Given the description of an element on the screen output the (x, y) to click on. 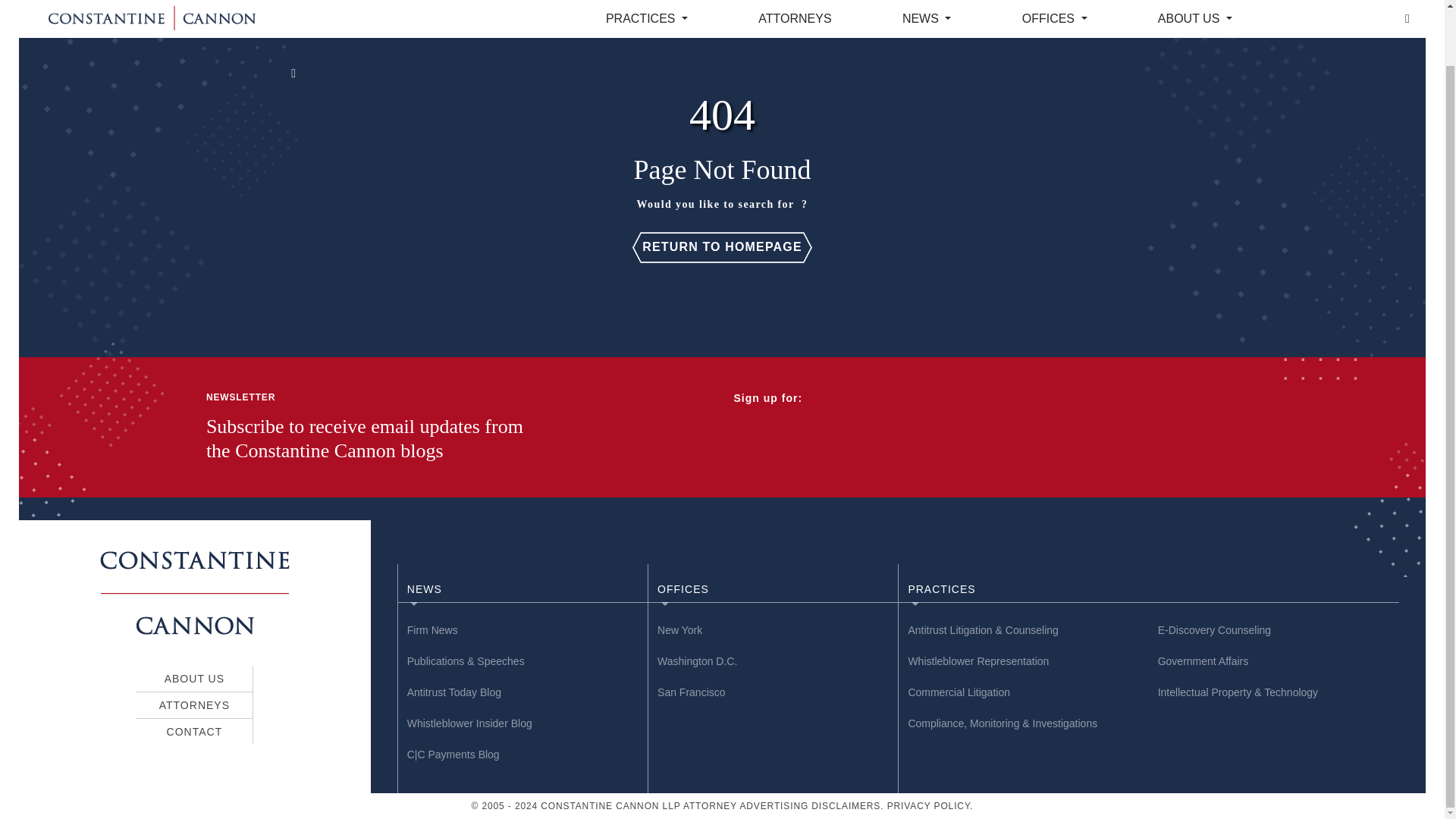
CONTACT (194, 731)
ATTORNEYS (194, 705)
NEWS (527, 588)
RETURN TO HOMEPAGE (721, 246)
Firm News (523, 630)
search for (767, 204)
ABOUT US (194, 678)
